Given the description of an element on the screen output the (x, y) to click on. 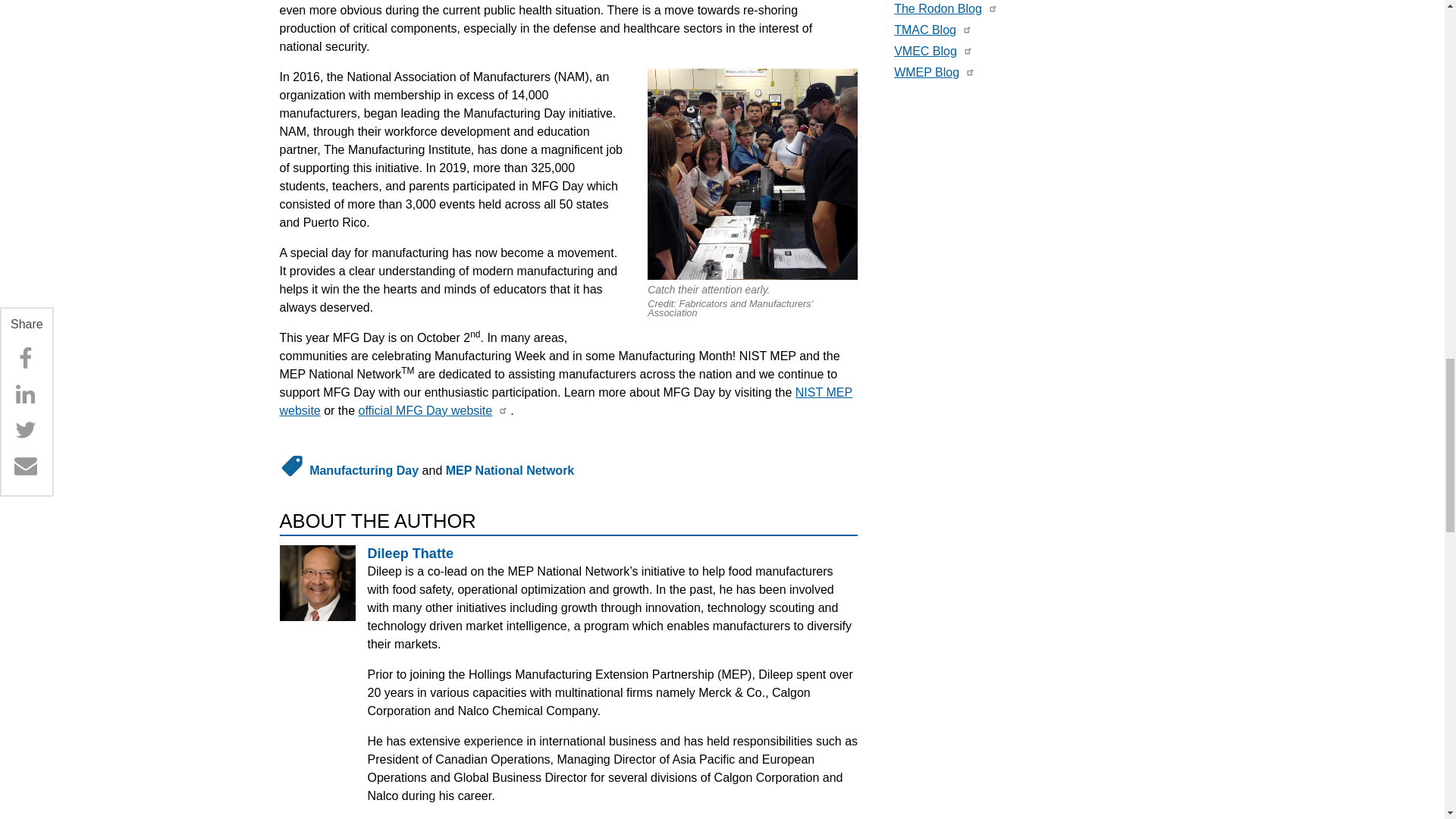
Manufacturing Day (363, 470)
NIST MEP website (565, 400)
official MFG Day website (425, 410)
MEP National Network (510, 470)
Dileep Thatte (409, 553)
